Given the description of an element on the screen output the (x, y) to click on. 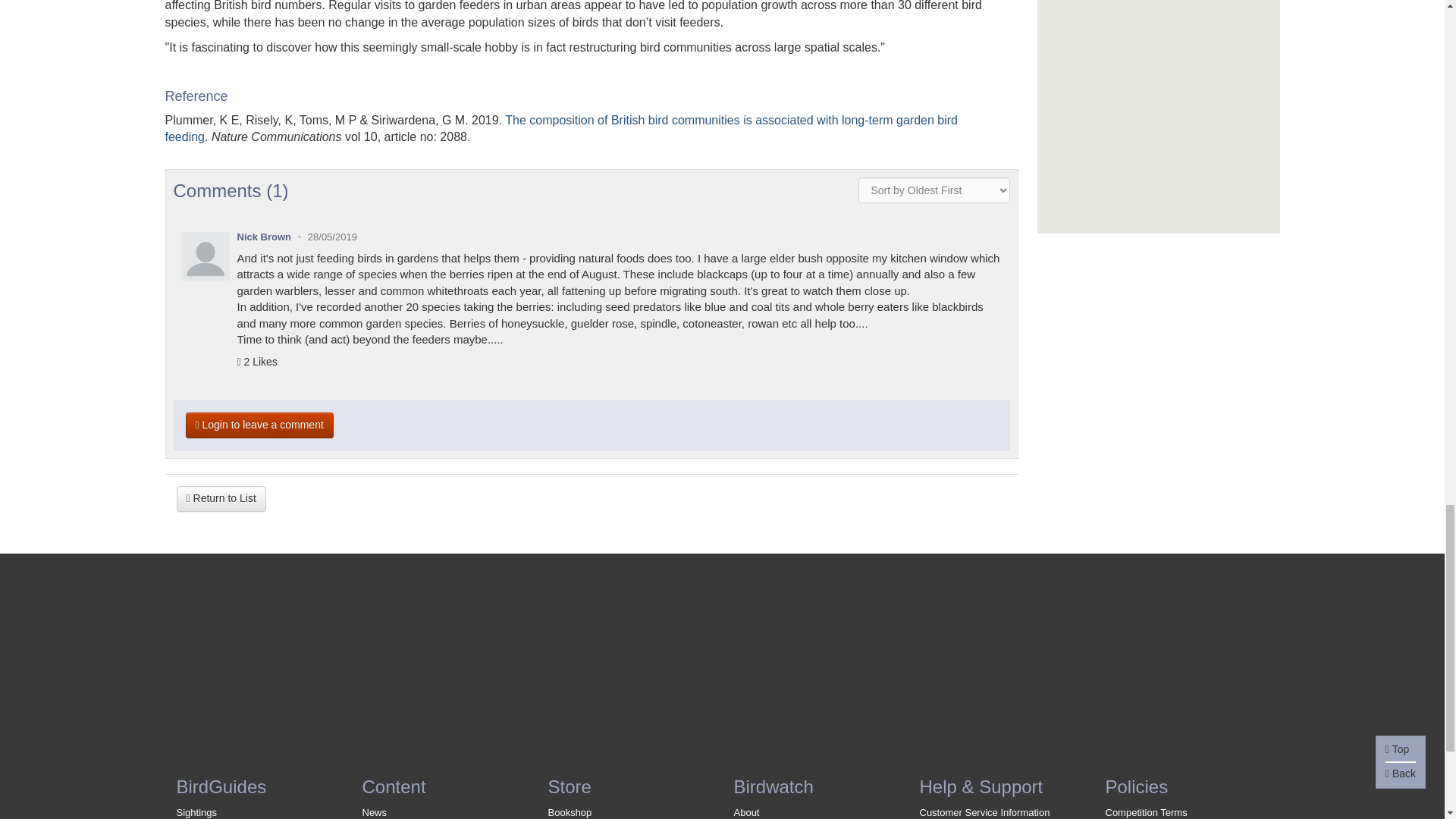
No Profile Picture (204, 255)
